Given the description of an element on the screen output the (x, y) to click on. 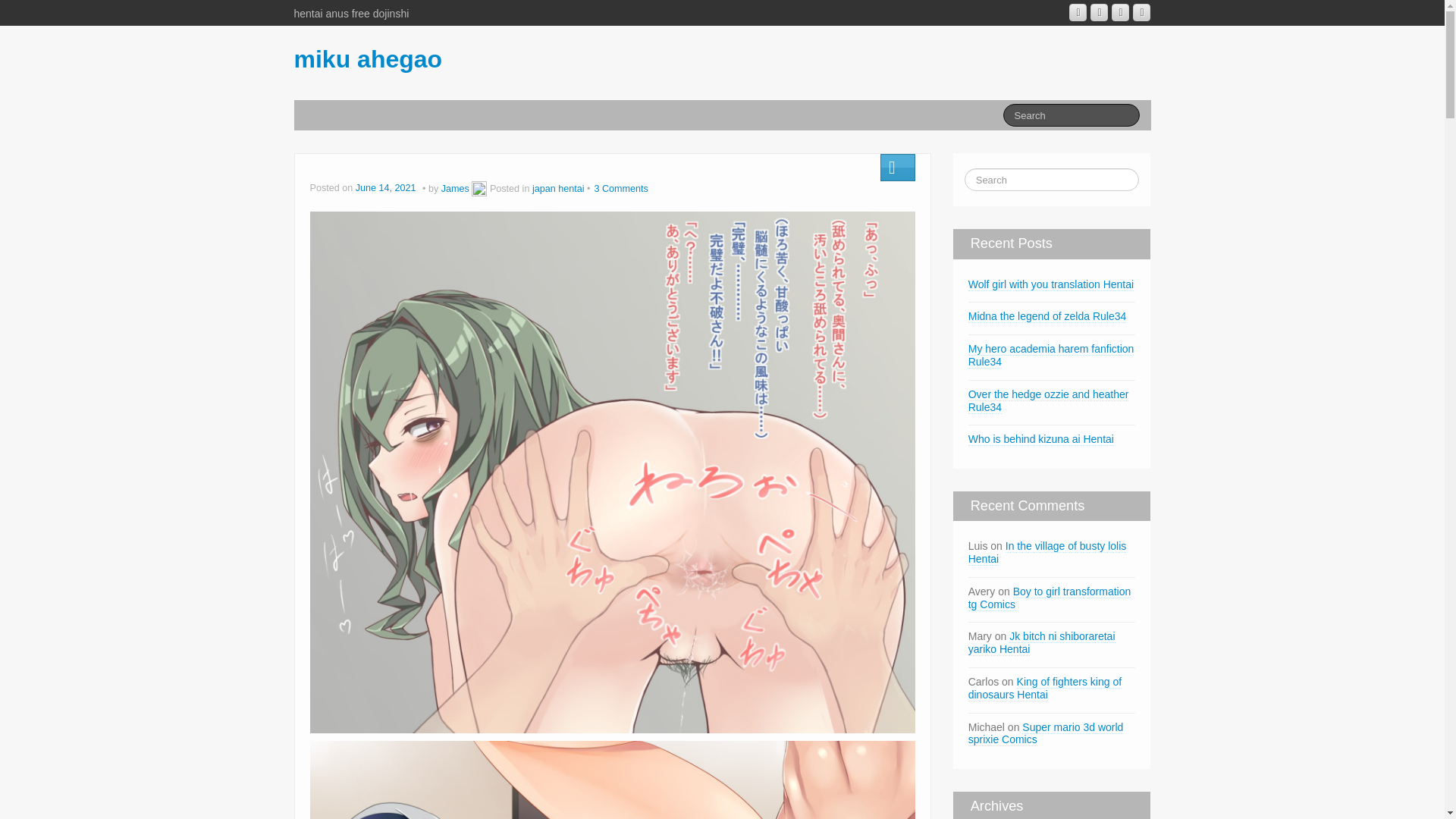
James (454, 188)
Boy to girl transformation tg Comics (1049, 597)
View all posts by James (478, 188)
Super mario 3d world sprixie Comics (1046, 733)
Over the hedge ozzie and heather Rule34 (1048, 401)
Who is behind kizuna ai Hentai (1040, 439)
miku ahegao Twitter (1141, 12)
Midna the legend of zelda Rule34 (1047, 316)
miku ahegao Vimeo (1120, 12)
japan hentai (558, 188)
3 Comments (620, 188)
Jk bitch ni shiboraretai yariko Hentai (1041, 642)
miku ahegao Googleplus (1077, 12)
June 14, 2021 (387, 188)
View all posts by James (454, 188)
